Given the description of an element on the screen output the (x, y) to click on. 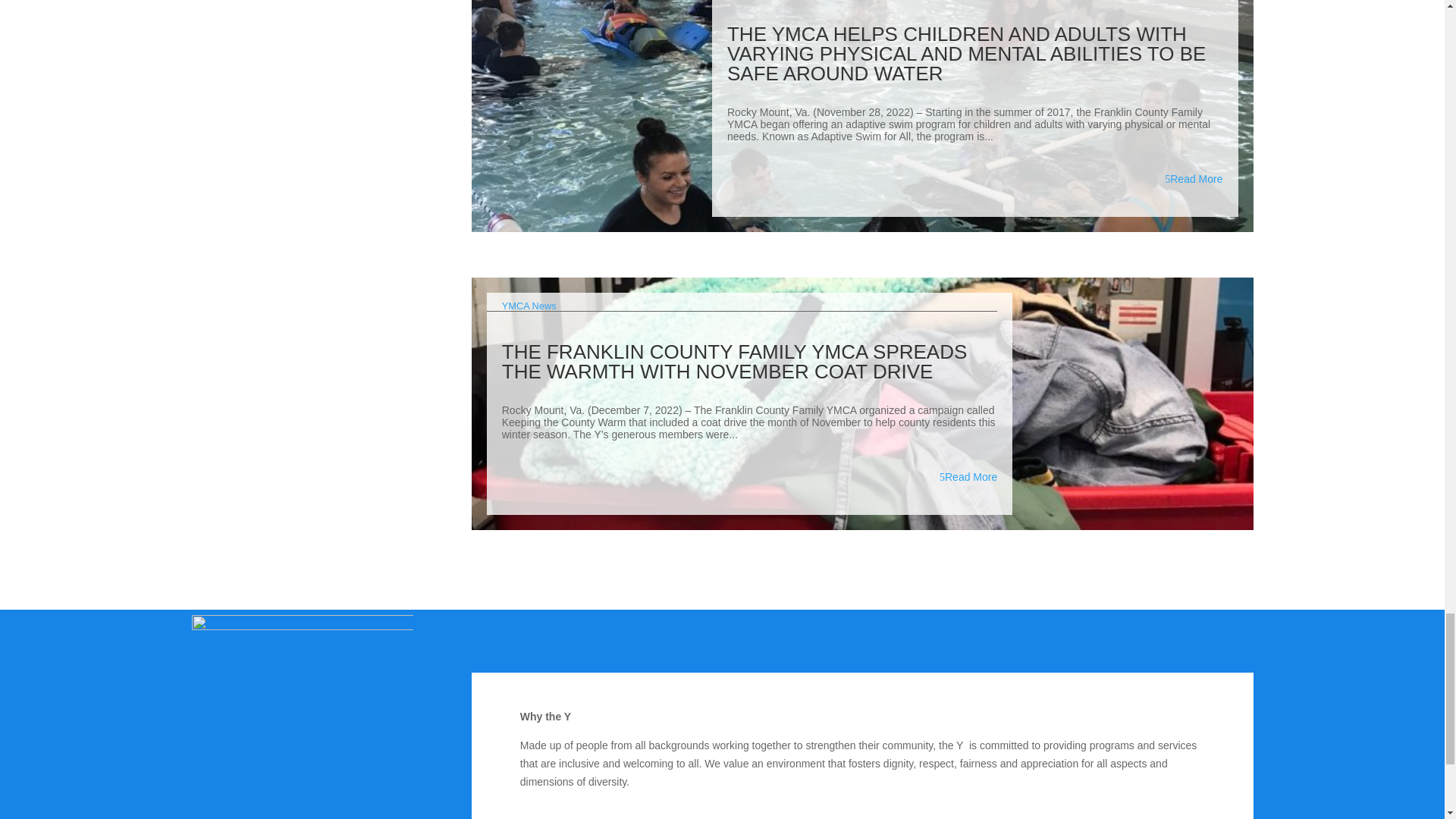
Preschool 02 (301, 717)
